Given the description of an element on the screen output the (x, y) to click on. 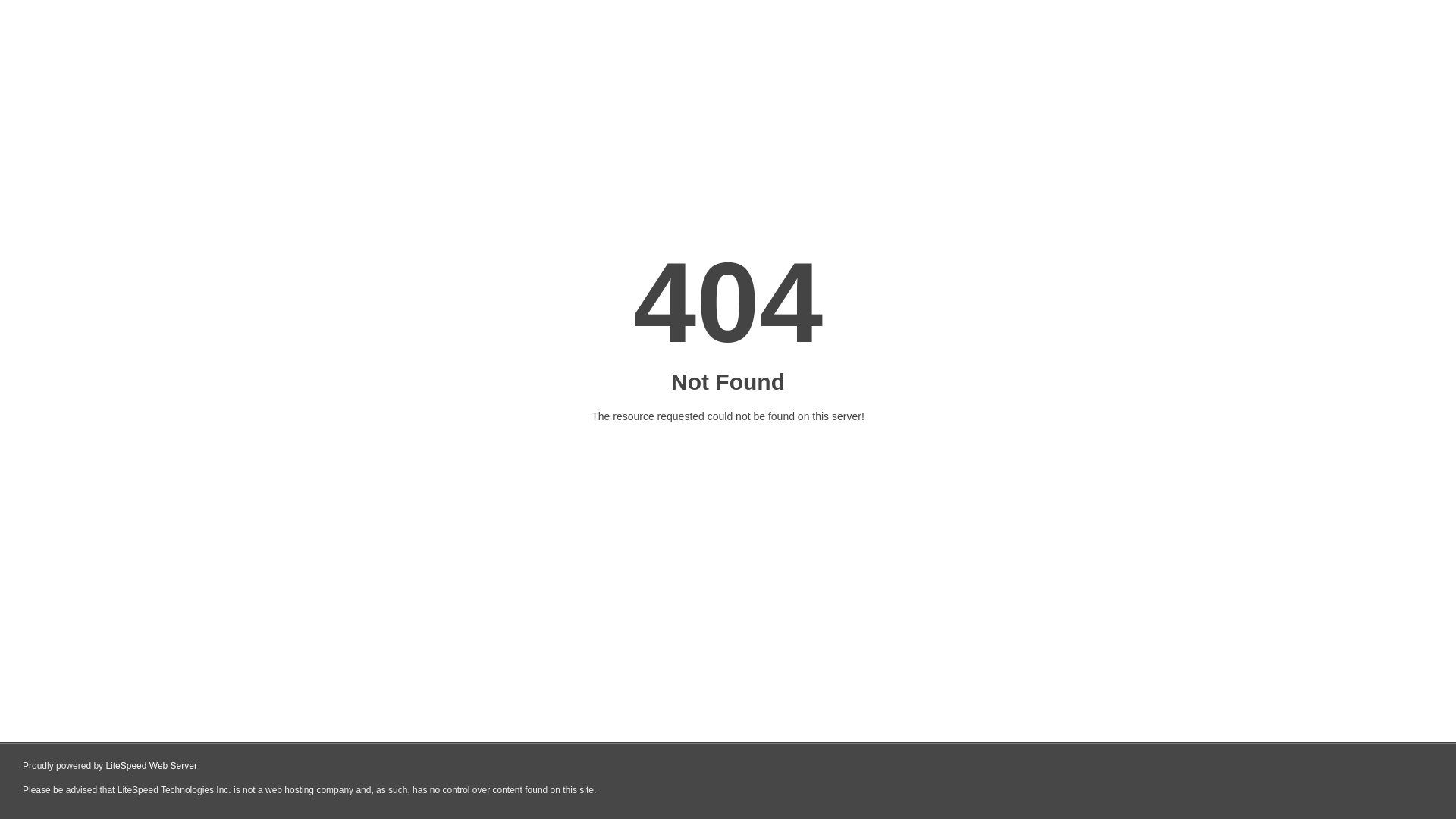
LiteSpeed Web Server Element type: text (151, 765)
